Given the description of an element on the screen output the (x, y) to click on. 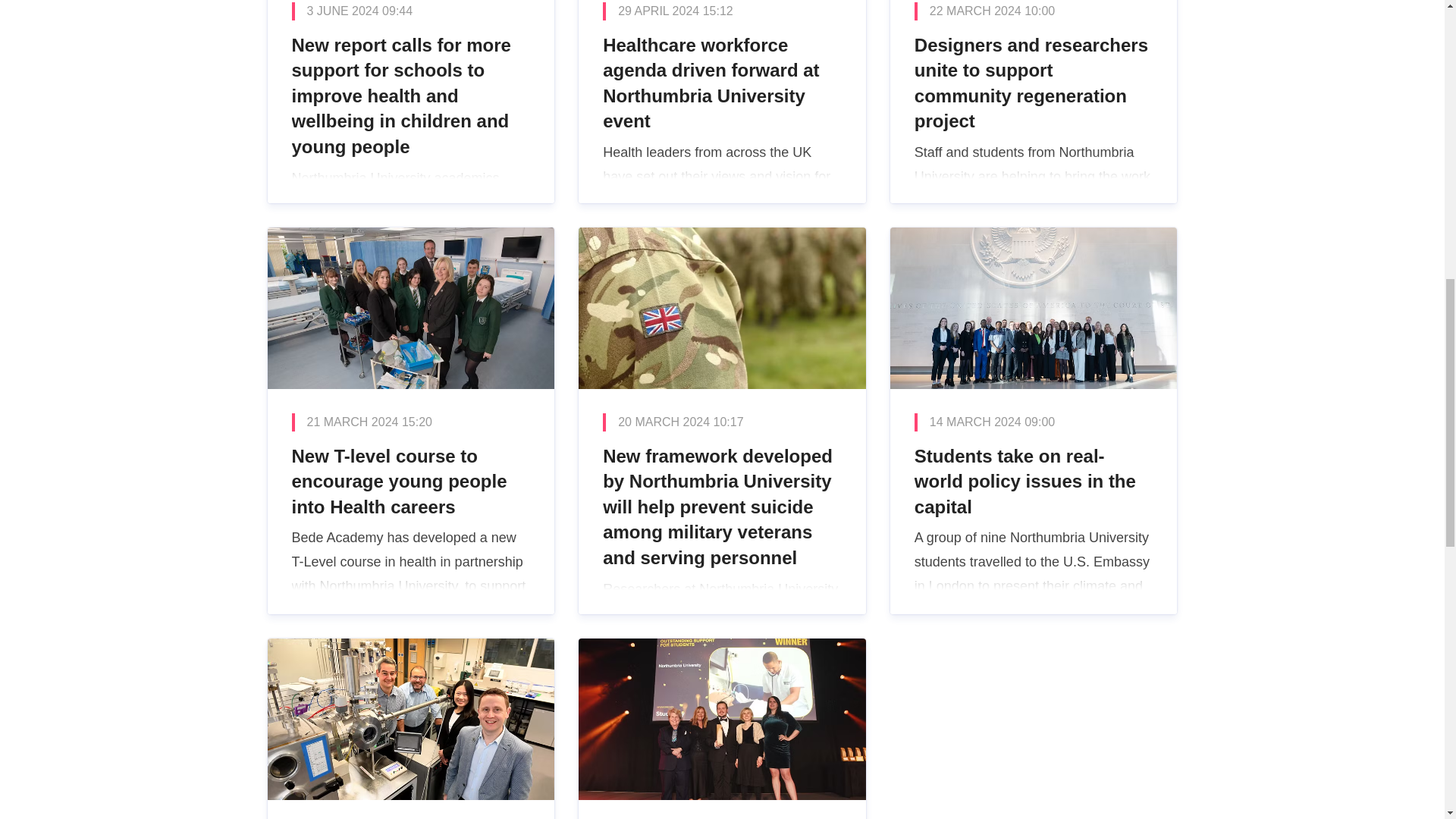
Students take on real-world policy issues in the capital (1033, 420)
Outstanding support for nursing students wins national award (722, 728)
